Given the description of an element on the screen output the (x, y) to click on. 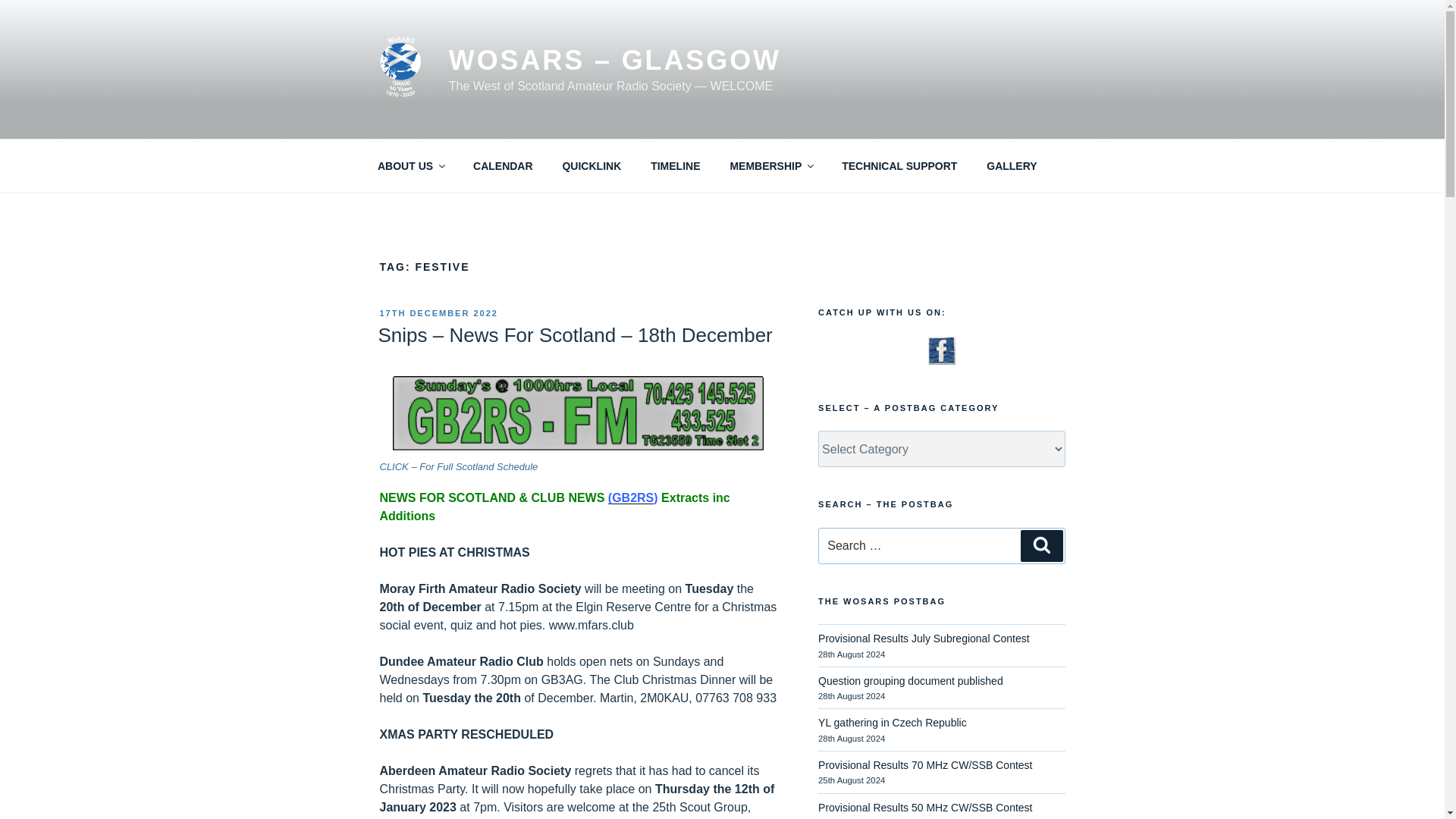
YL gathering in Czech Republic (892, 722)
ABOUT US (410, 165)
Search (1041, 545)
17TH DECEMBER 2022 (437, 312)
Provisional Results July Subregional Contest (923, 638)
CALENDAR (503, 165)
TIMELINE (675, 165)
GALLERY (1011, 165)
TECHNICAL SUPPORT (899, 165)
MEMBERSHIP (770, 165)
